Given the description of an element on the screen output the (x, y) to click on. 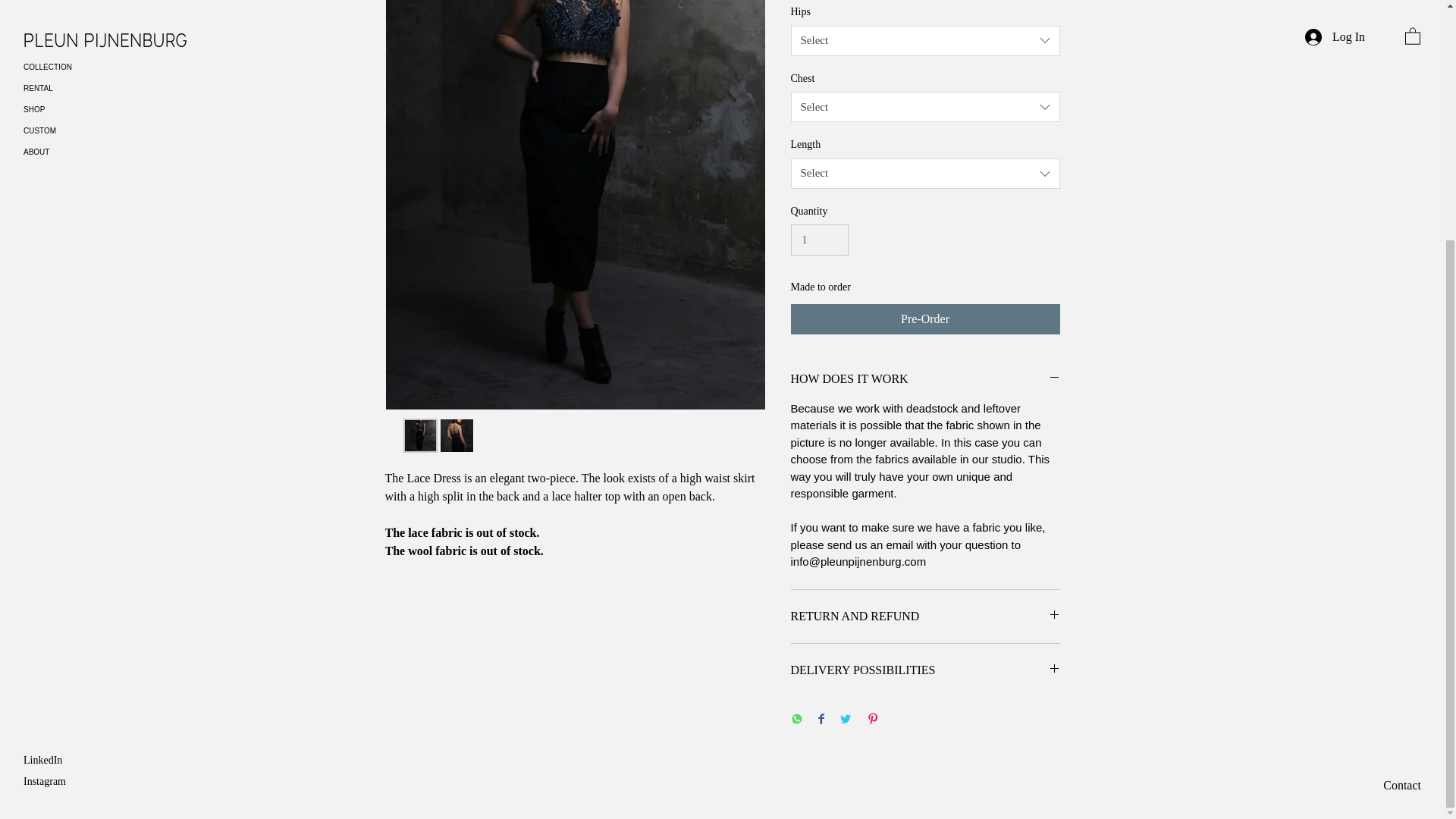
RETURN AND REFUND (924, 616)
1 (818, 239)
Select (924, 40)
Contact (1402, 453)
DELIVERY POSSIBILITIES (924, 669)
Pre-Order (924, 318)
LinkedIn (42, 428)
Select (924, 106)
Select (924, 173)
Instagram (44, 449)
HOW DOES IT WORK (924, 379)
